Given the description of an element on the screen output the (x, y) to click on. 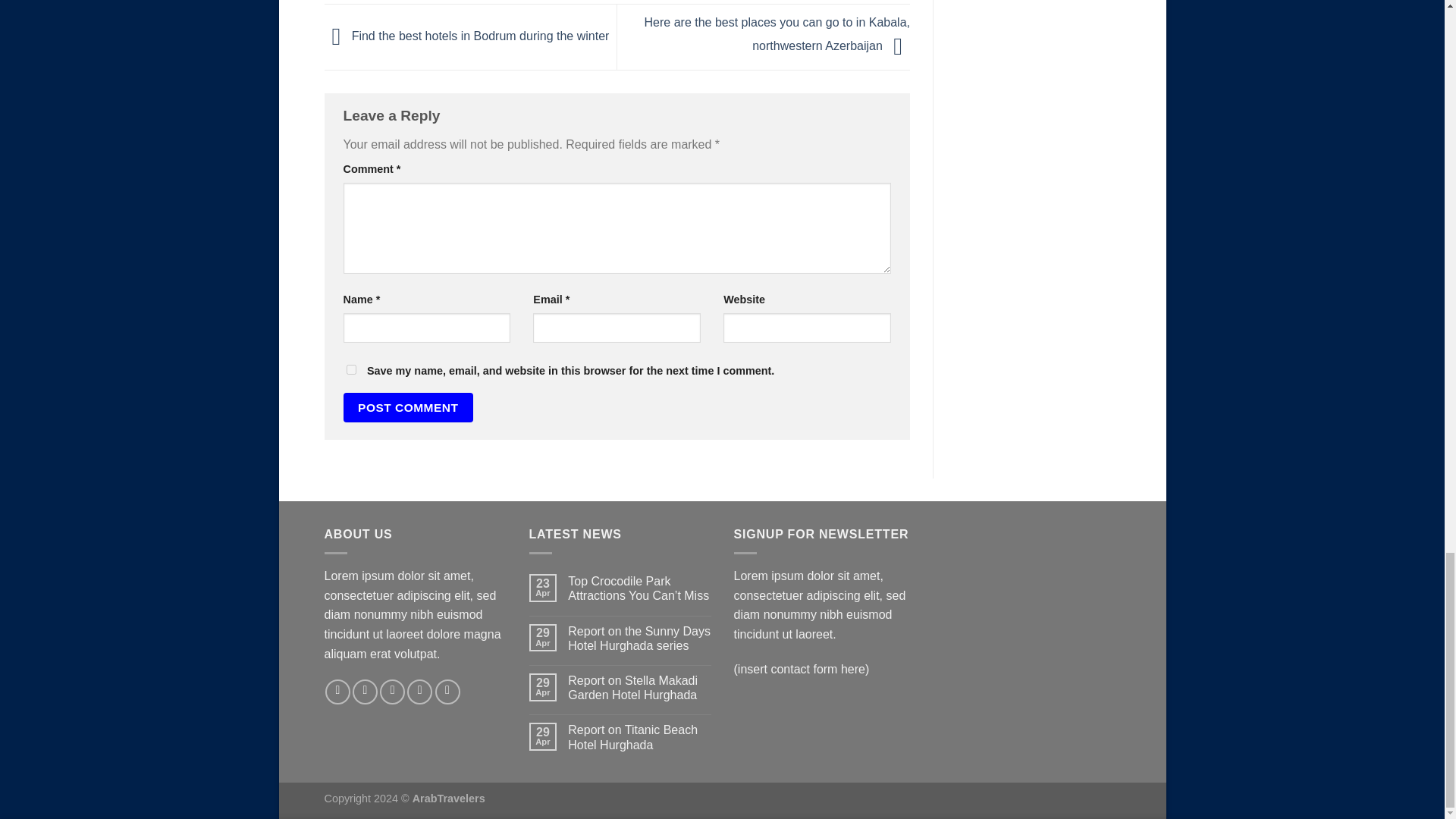
Report on Stella Makadi Garden Hotel Hurghada (638, 687)
Follow on Twitter (392, 691)
Post Comment (407, 407)
Report on Stella Makadi Garden Hotel Hurghada (638, 687)
Post Comment (407, 407)
Follow on Facebook (337, 691)
Follow on Pinterest (447, 691)
Follow on Instagram (364, 691)
Report on Titanic Beach Hotel Hurghada (638, 736)
Send us an email (419, 691)
